Given the description of an element on the screen output the (x, y) to click on. 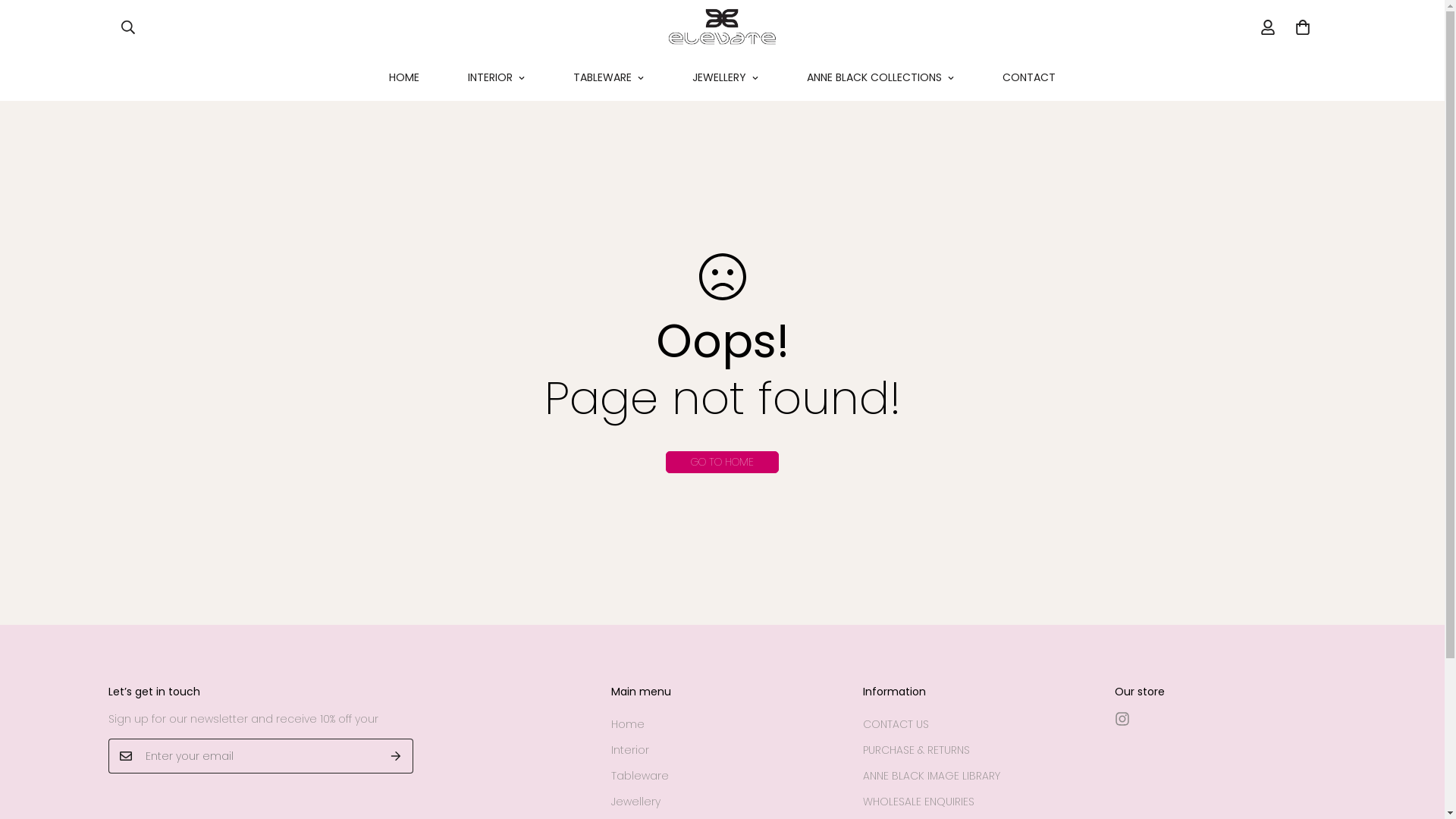
PURCHASE & RETURNS Element type: text (915, 749)
Home Element type: text (627, 723)
HOME Element type: text (403, 77)
elevatedesign.com.au Element type: hover (722, 27)
WHOLESALE ENQUIRIES Element type: text (918, 801)
CONTACT Element type: text (1028, 77)
JEWELLERY Element type: text (725, 77)
ANNE BLACK IMAGE LIBRARY Element type: text (931, 775)
Tableware Element type: text (639, 775)
CONTACT US Element type: text (895, 723)
INTERIOR Element type: text (496, 77)
GO TO HOME Element type: text (721, 462)
ANNE BLACK COLLECTIONS Element type: text (880, 77)
TABLEWARE Element type: text (608, 77)
Interior Element type: text (630, 749)
Jewellery Element type: text (635, 801)
